Given the description of an element on the screen output the (x, y) to click on. 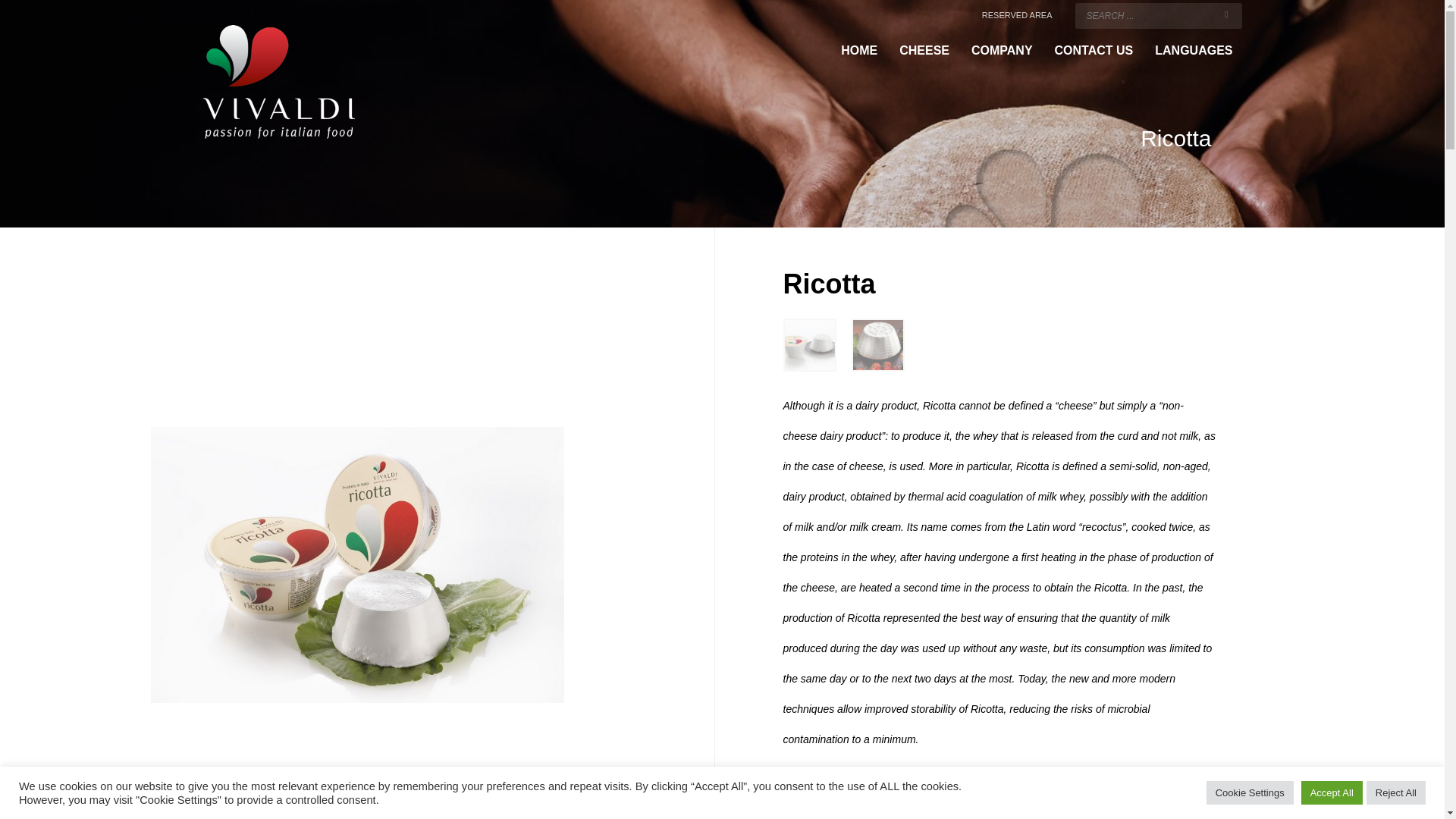
LANGUAGES (1193, 50)
PASSION FOR ITALIAN CHEESES (279, 81)
COMPANY (1002, 50)
RESERVED AREA (1016, 14)
Ricotta Ruggero (877, 344)
CONTACT US (1093, 50)
CHEESE (923, 50)
HOME (858, 50)
RICOTTA VIVALDI 250 g ridotta (356, 564)
go (1227, 14)
RICOTTA VIVALDI 1.5 Kg ridotta (809, 344)
